Given the description of an element on the screen output the (x, y) to click on. 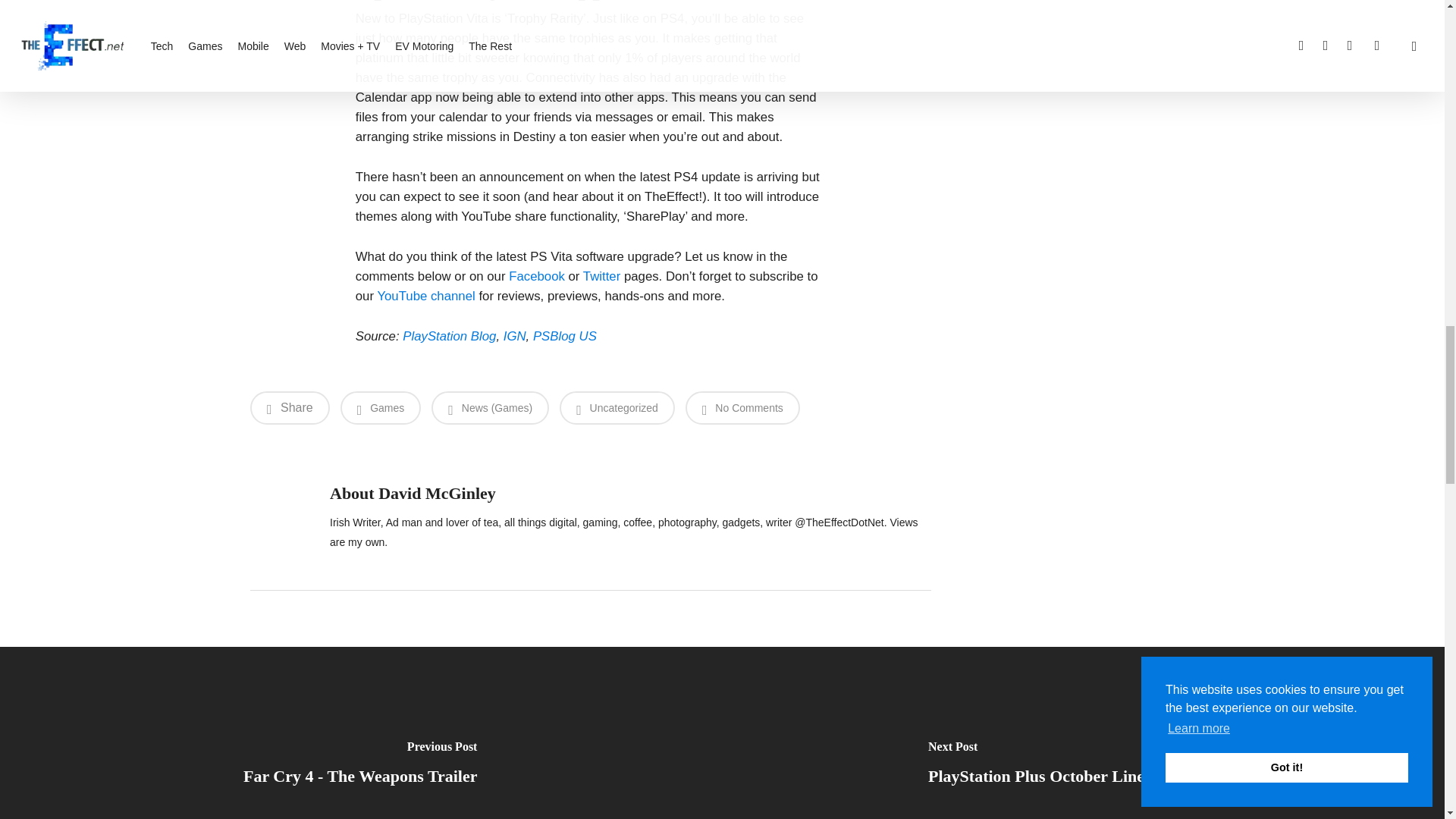
PSBlog US (564, 336)
PlayStation Blog (449, 336)
Facebook (536, 276)
TheEffect.net on Twitter (601, 276)
YouTube channel (425, 296)
Twitter (601, 276)
IGN (514, 336)
Facebook (536, 276)
